Given the description of an element on the screen output the (x, y) to click on. 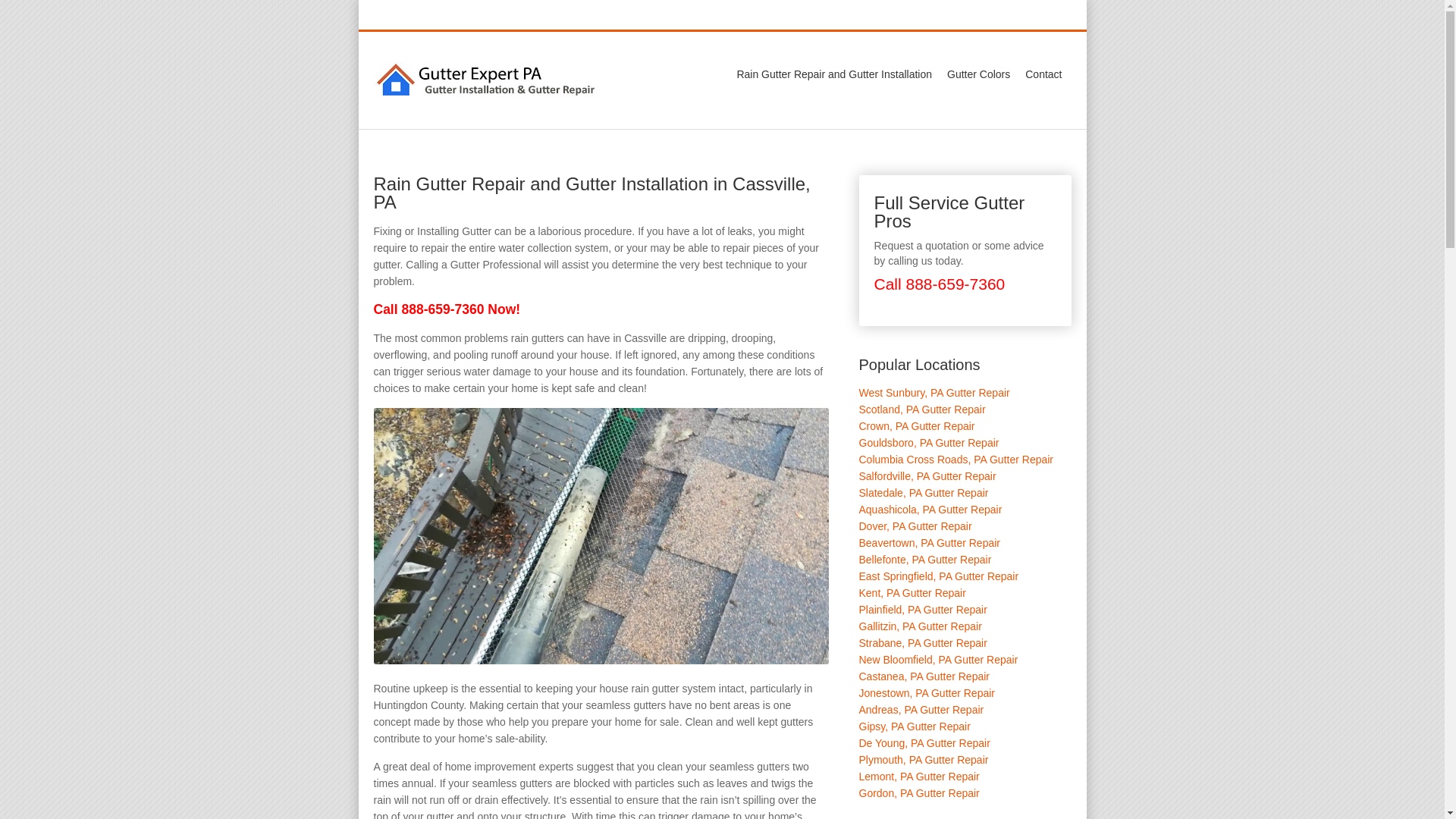
Aquashicola, PA Gutter Repair (930, 509)
888-659-7360 (897, 15)
Slatedale, PA Gutter Repair (923, 492)
Plainfield, PA Gutter Repair (923, 609)
Contact (1043, 74)
Crown, PA Gutter Repair (916, 426)
Call 888-659-7360 Now! (445, 309)
Gutter Colors (978, 74)
Rain Gutter Repair and Gutter Installation in Cassville, PA (600, 535)
East Springfield, PA Gutter Repair (938, 576)
